Given the description of an element on the screen output the (x, y) to click on. 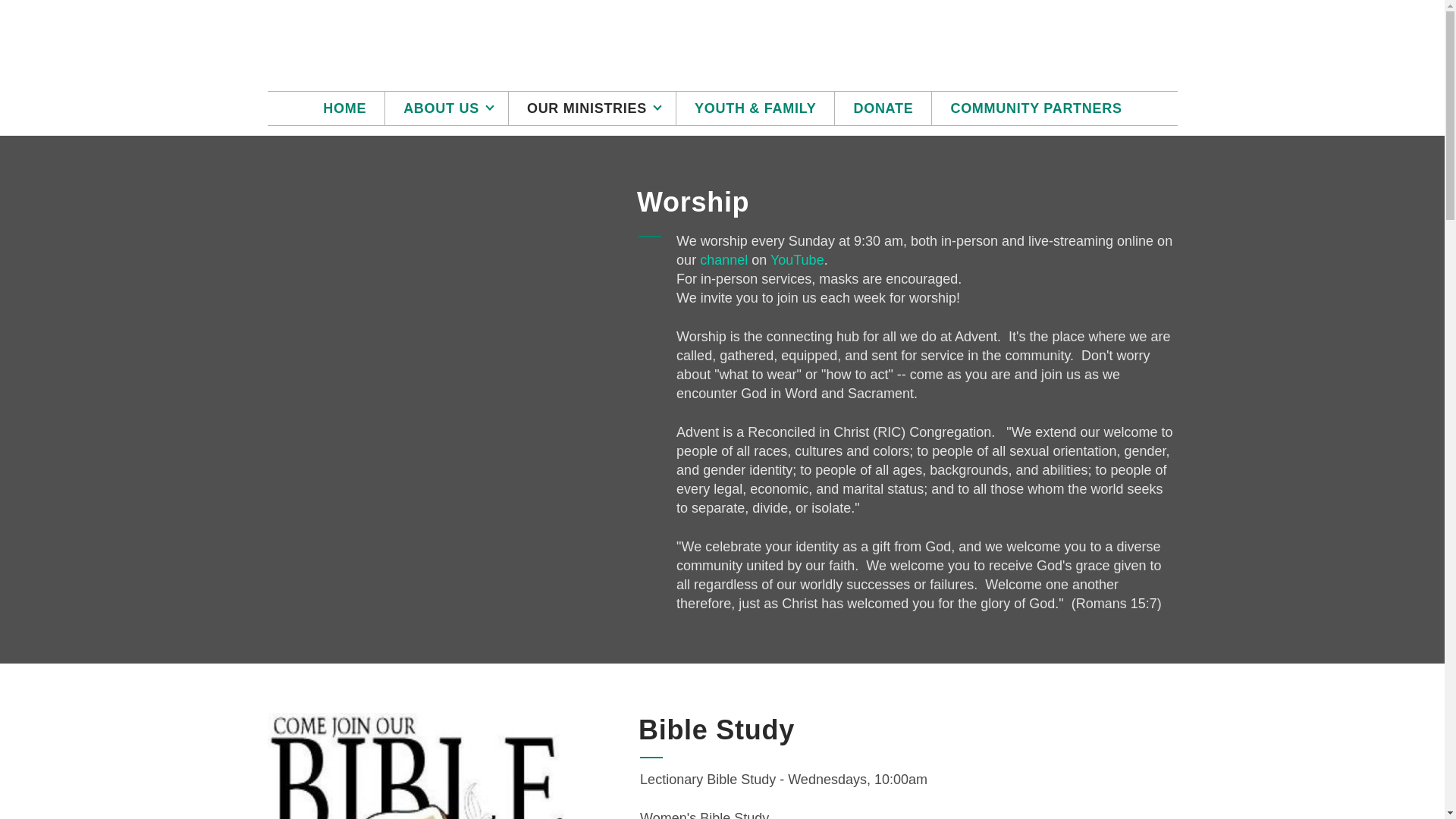
ABOUT US (446, 108)
OUR MINISTRIES (591, 108)
DONATE (882, 108)
HOME (344, 108)
